Given the description of an element on the screen output the (x, y) to click on. 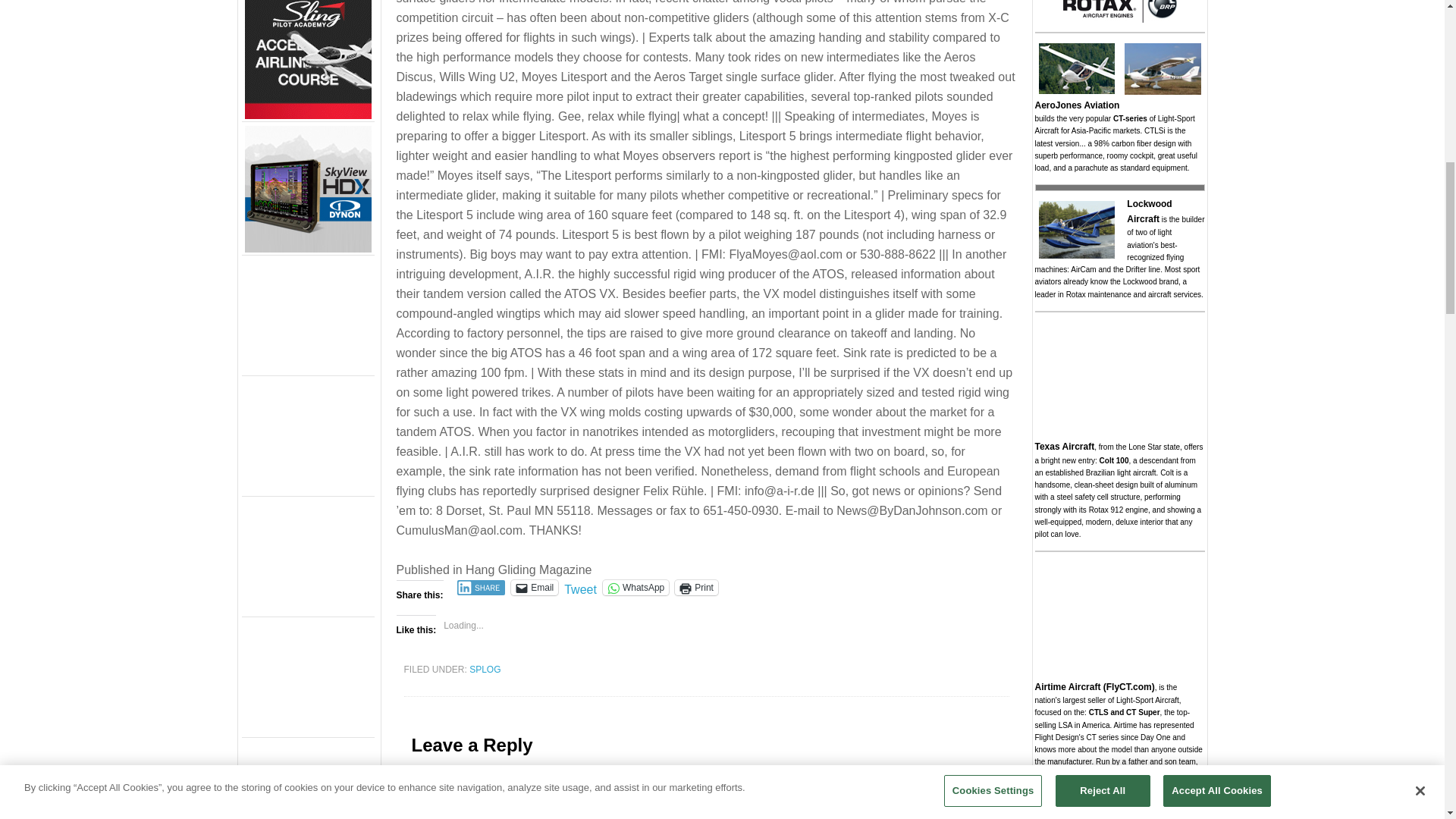
Email (534, 586)
Tweet (580, 585)
Print (696, 586)
Click to email a link to a friend (534, 586)
SHARE (481, 586)
Click to print (696, 586)
SPLOG (484, 669)
Click to share on WhatsApp (635, 586)
WhatsApp (635, 586)
